Given the description of an element on the screen output the (x, y) to click on. 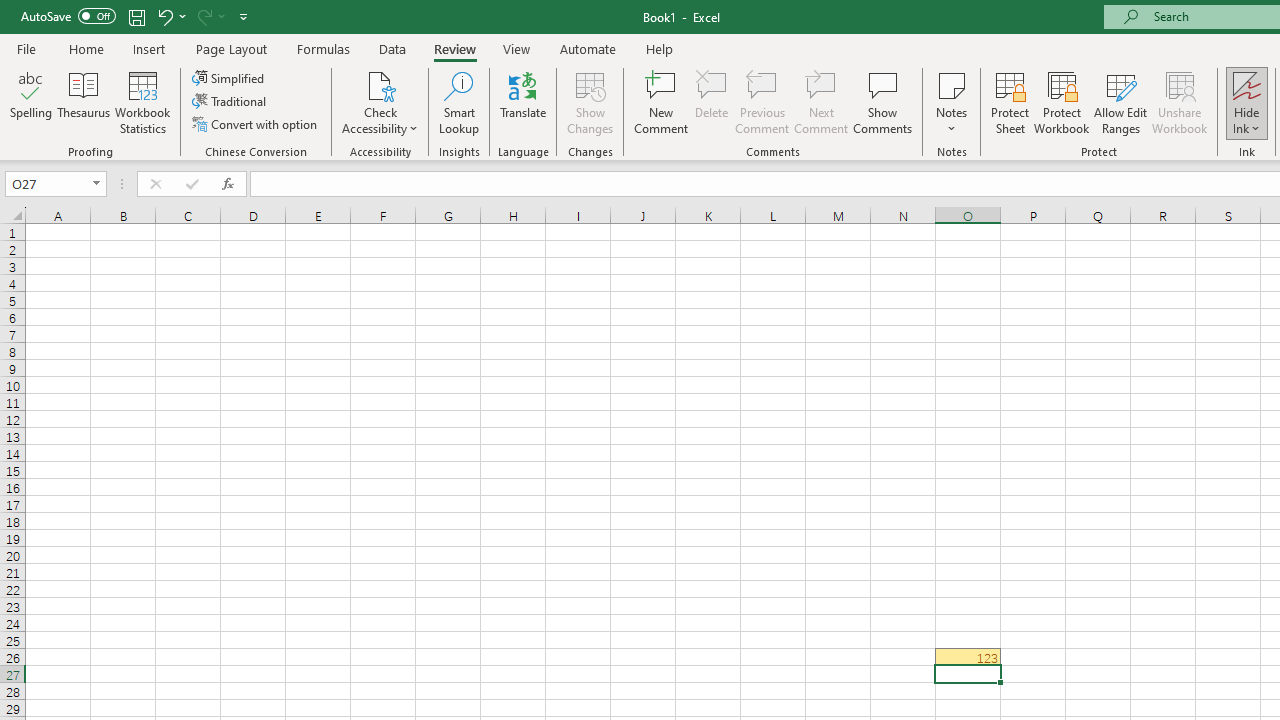
Show Comments (883, 102)
Simplified (230, 78)
Delete (712, 102)
Convert with option (256, 124)
Spelling... (31, 102)
Next Comment (821, 102)
Show Changes (589, 102)
Protect Sheet... (1010, 102)
Hide Ink (1247, 84)
